Given the description of an element on the screen output the (x, y) to click on. 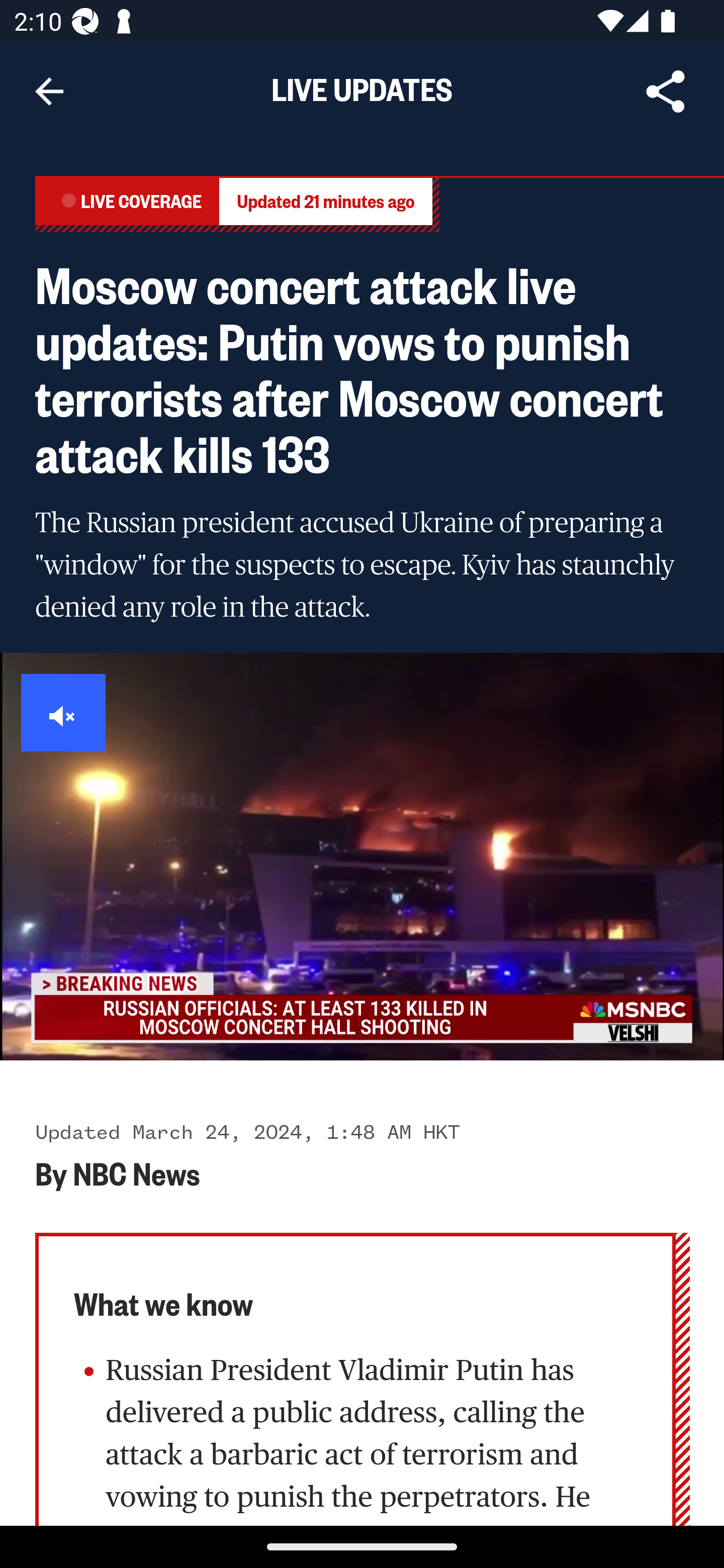
Navigate up (49, 91)
Share Article, button (665, 91)
 (63, 712)
